Given the description of an element on the screen output the (x, y) to click on. 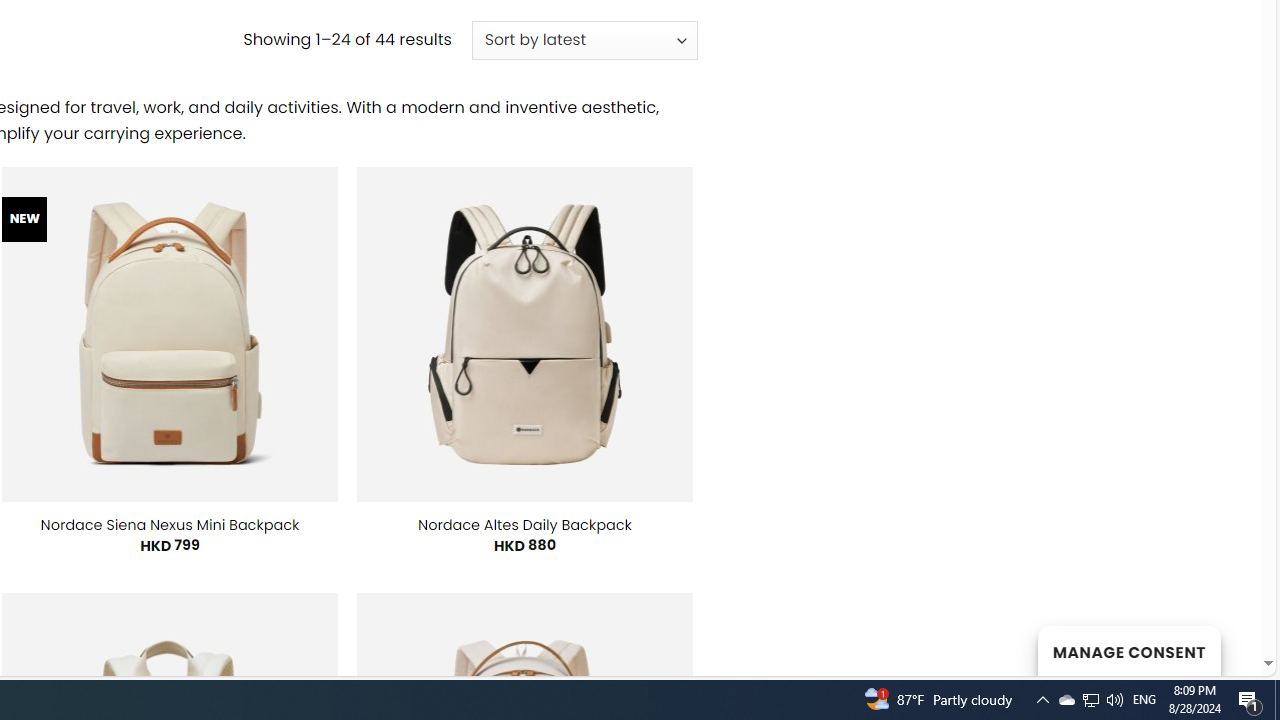
Nordace Altes Daily Backpack (525, 524)
Nordace Siena Nexus Mini Backpack (169, 524)
MANAGE CONSENT (1128, 650)
Shop order (584, 40)
